Given the description of an element on the screen output the (x, y) to click on. 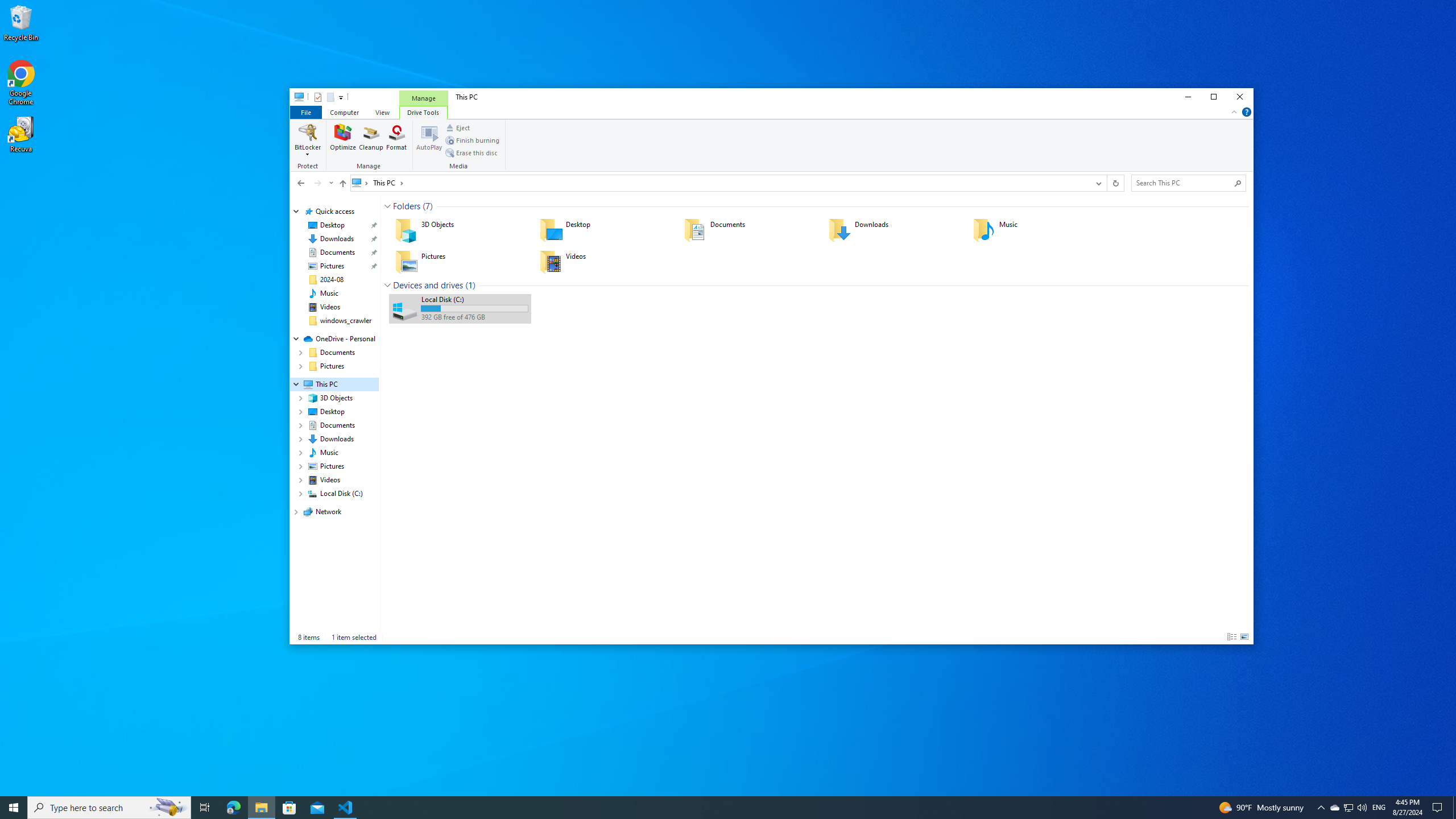
Music (328, 293)
Maximize (1214, 96)
Type here to search (108, 807)
Available space (474, 316)
Quick Access Toolbar (323, 96)
windows_crawler (345, 320)
This PC (388, 182)
Up to "Desktop" (Alt + Up Arrow) (342, 183)
Local Disk (C:) (459, 308)
Manage (423, 97)
Close (1240, 96)
Previous Locations (1097, 182)
Properties (317, 96)
Desktop (pinned) (332, 224)
